Given the description of an element on the screen output the (x, y) to click on. 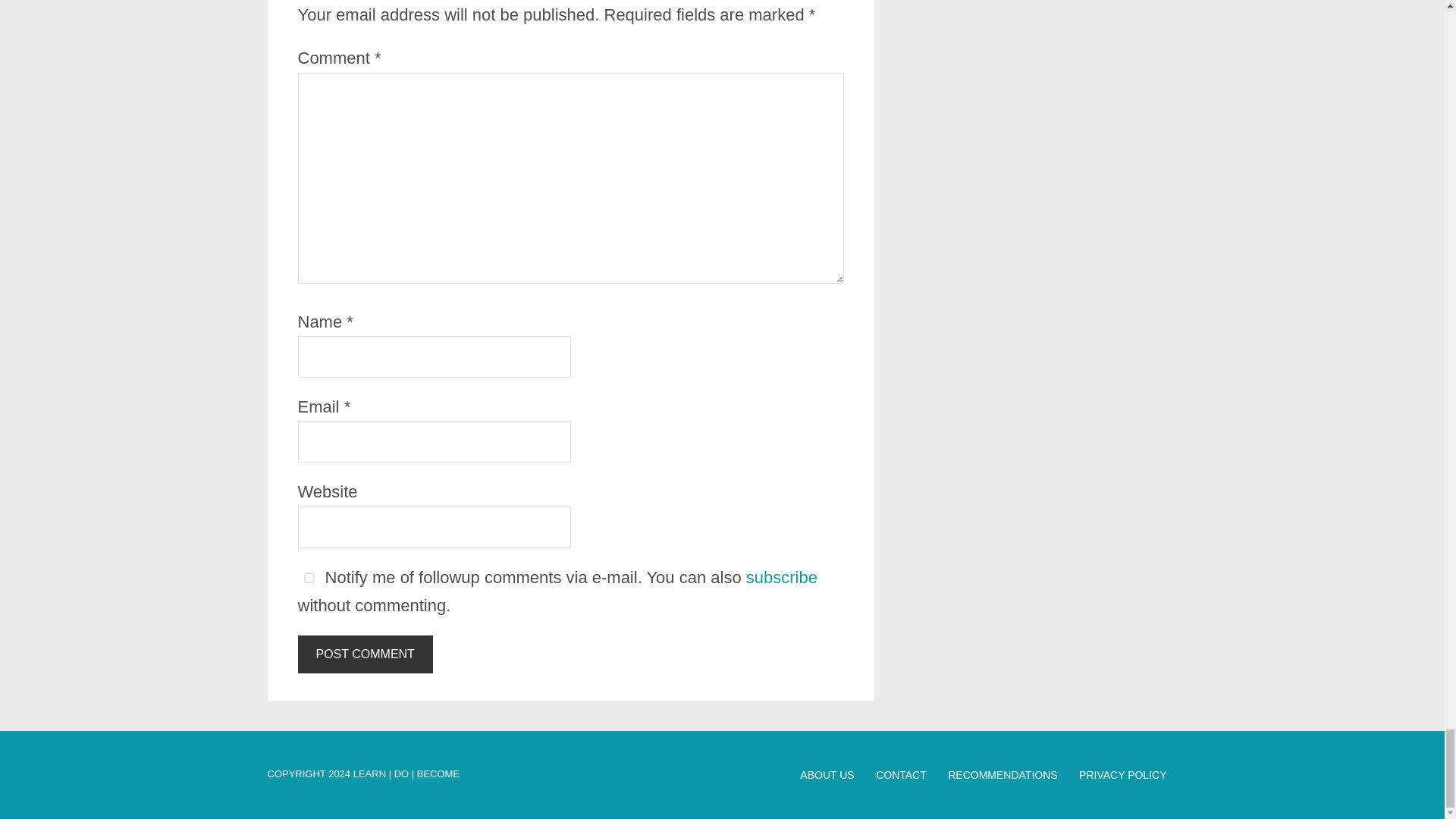
yes (308, 578)
Post Comment (364, 654)
subscribe (780, 577)
Post Comment (364, 654)
